Given the description of an element on the screen output the (x, y) to click on. 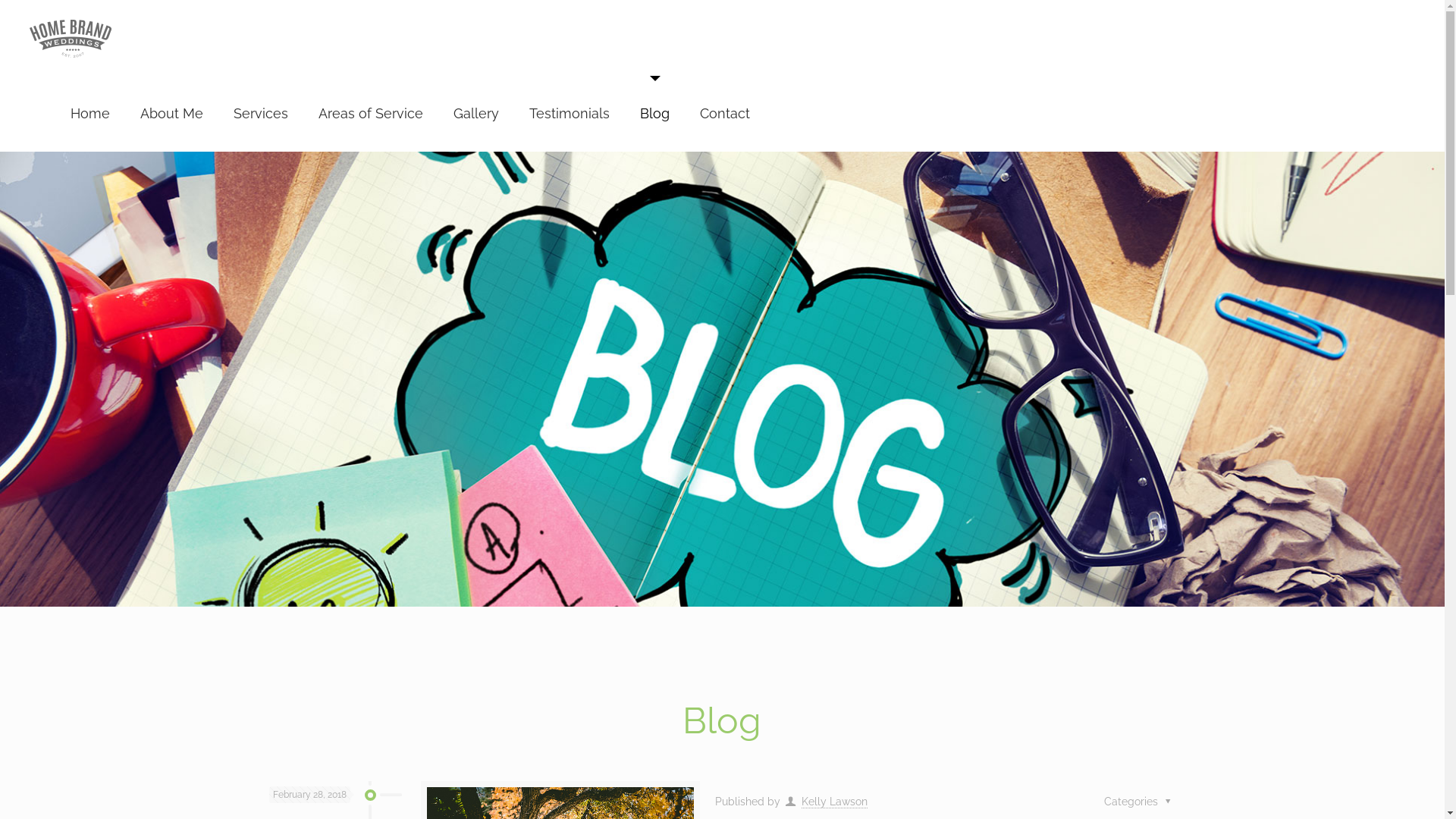
About Me Element type: text (171, 113)
Home Element type: text (90, 113)
Services Element type: text (260, 113)
Blog Element type: text (654, 113)
Areas of Service Element type: text (370, 113)
Homebrand Wedding Element type: hover (70, 37)
Kelly Lawson Element type: text (834, 801)
Testimonials Element type: text (569, 113)
Contact Element type: text (724, 113)
Gallery Element type: text (476, 113)
